Given the description of an element on the screen output the (x, y) to click on. 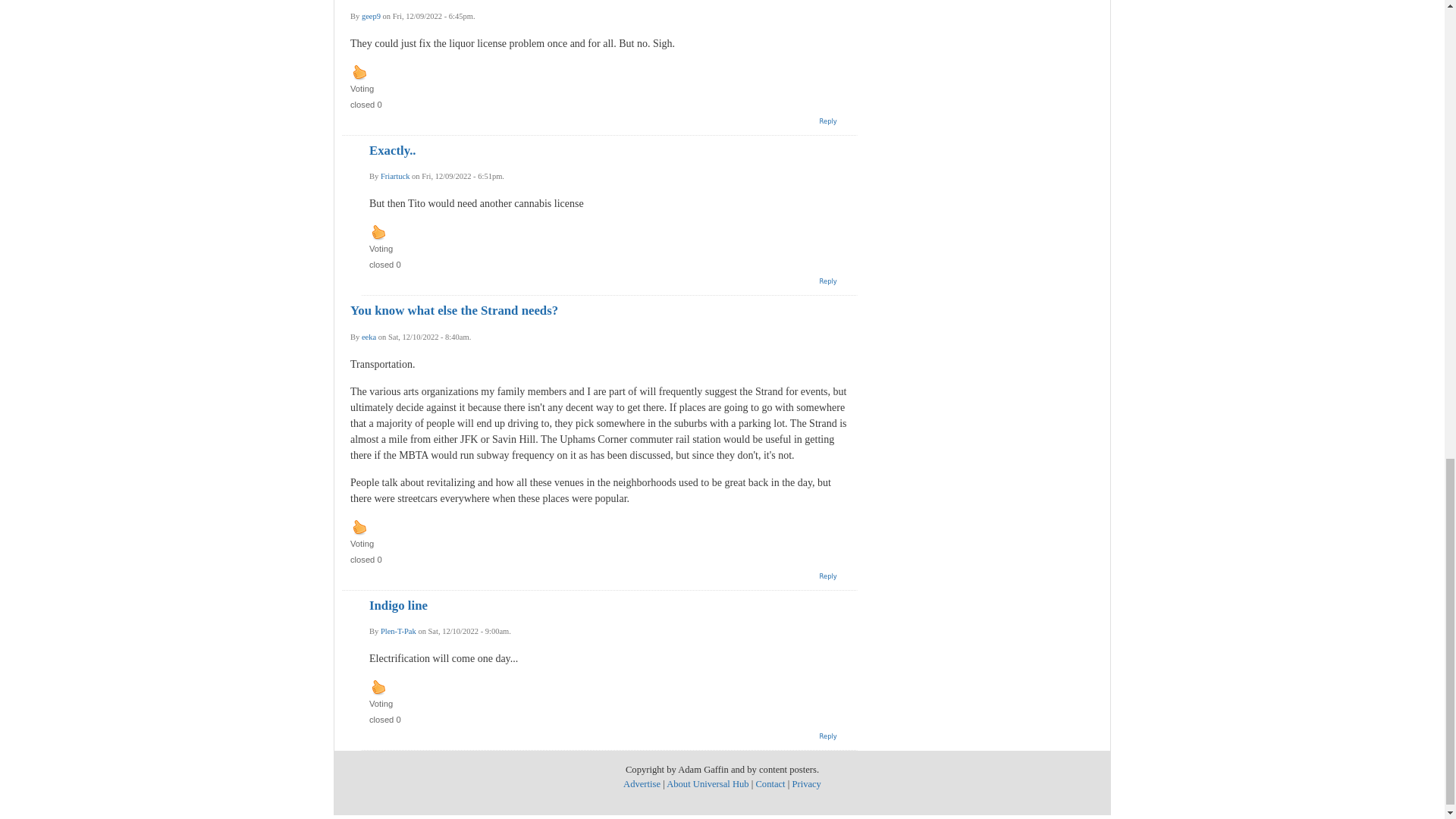
View user profile. (395, 175)
View user profile. (370, 16)
View user profile. (398, 631)
View user profile. (368, 336)
